Given the description of an element on the screen output the (x, y) to click on. 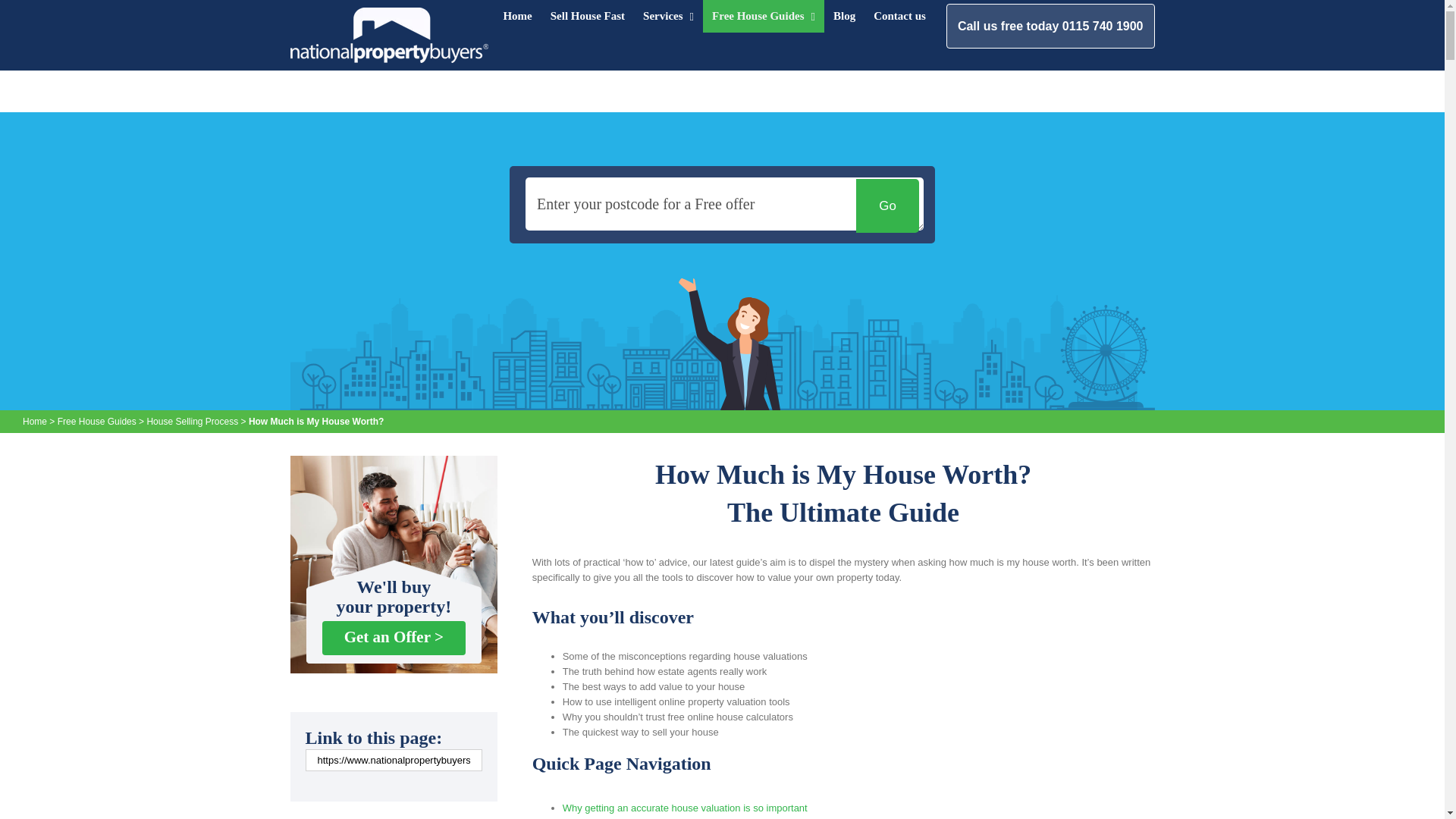
Contact us (899, 16)
Sell House Fast (587, 16)
Services (668, 16)
The easy way to sell your property (721, 343)
Free House Guides (763, 16)
Blog (844, 16)
Home (516, 16)
